Given the description of an element on the screen output the (x, y) to click on. 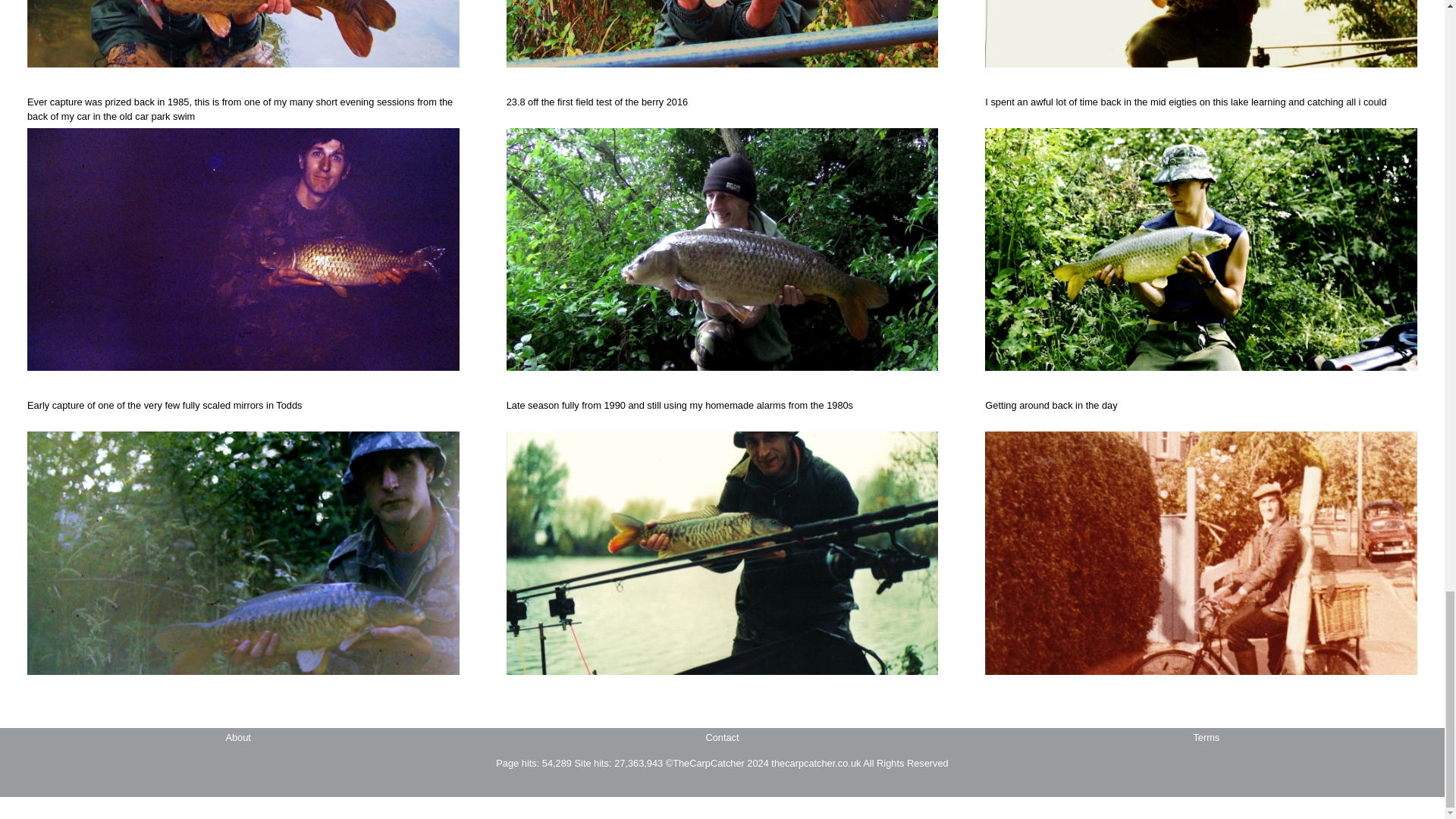
About (237, 737)
Terms (1206, 737)
Contact (721, 737)
